Given the description of an element on the screen output the (x, y) to click on. 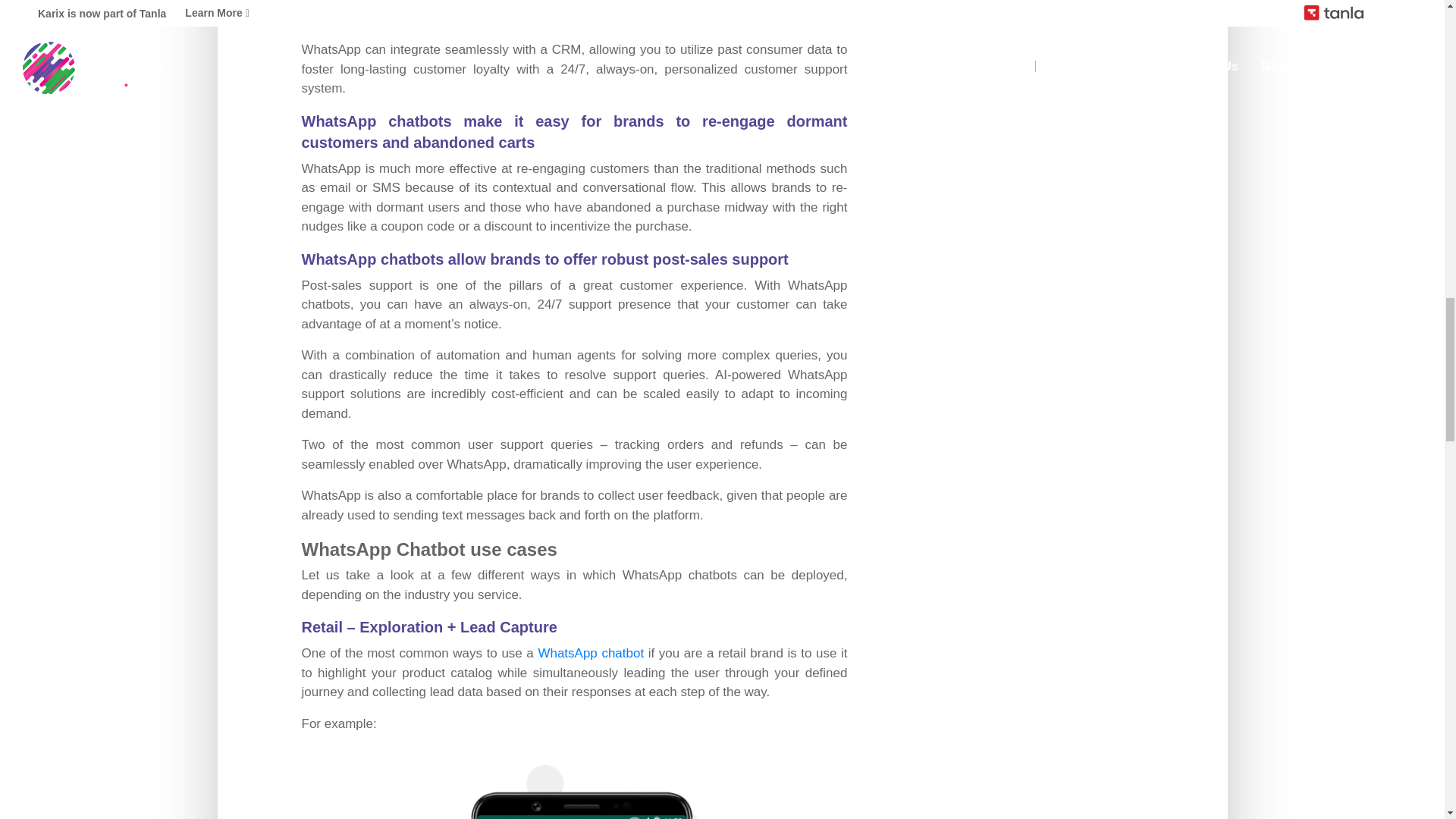
WhatsApp chatbots (590, 653)
Blog 13 Gif 01 (573, 785)
